Given the description of an element on the screen output the (x, y) to click on. 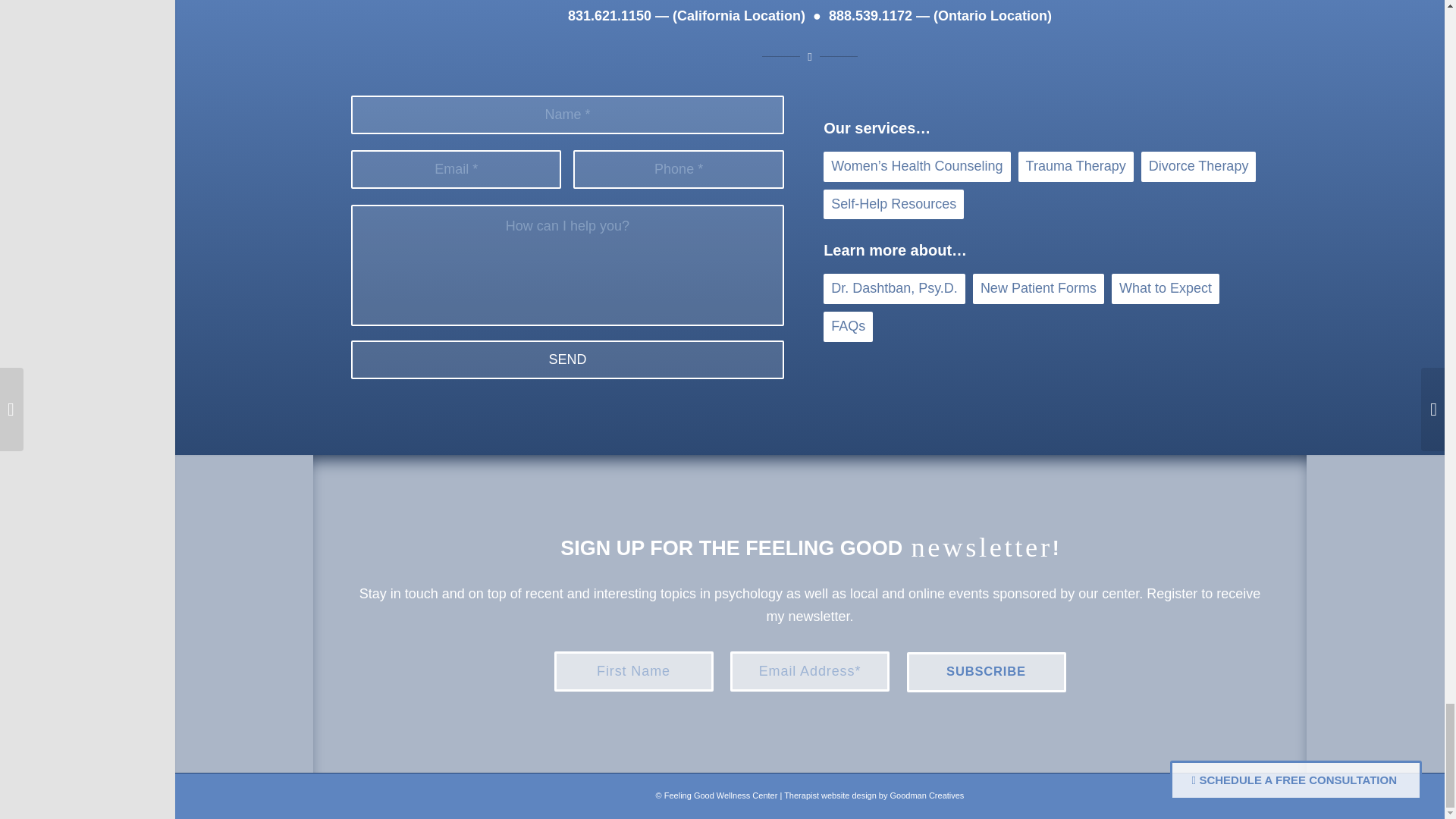
Ontario Location (991, 15)
SEND (567, 359)
California Location (738, 15)
888.539.1172 (870, 15)
Subscribe (986, 671)
831.621.1150 (608, 15)
SEND (567, 359)
